Given the description of an element on the screen output the (x, y) to click on. 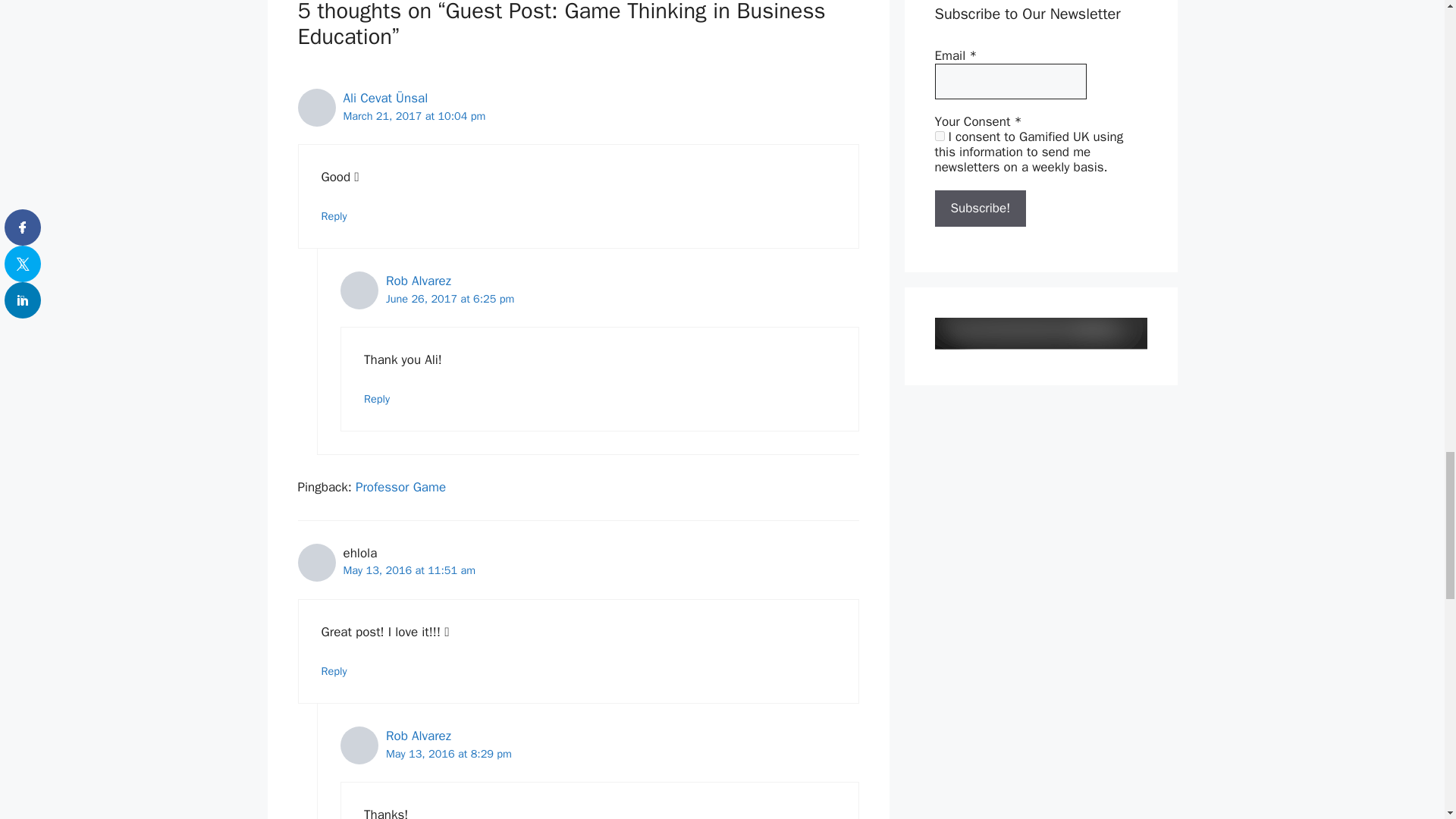
1 (938, 135)
Subscribe! (980, 208)
